Given the description of an element on the screen output the (x, y) to click on. 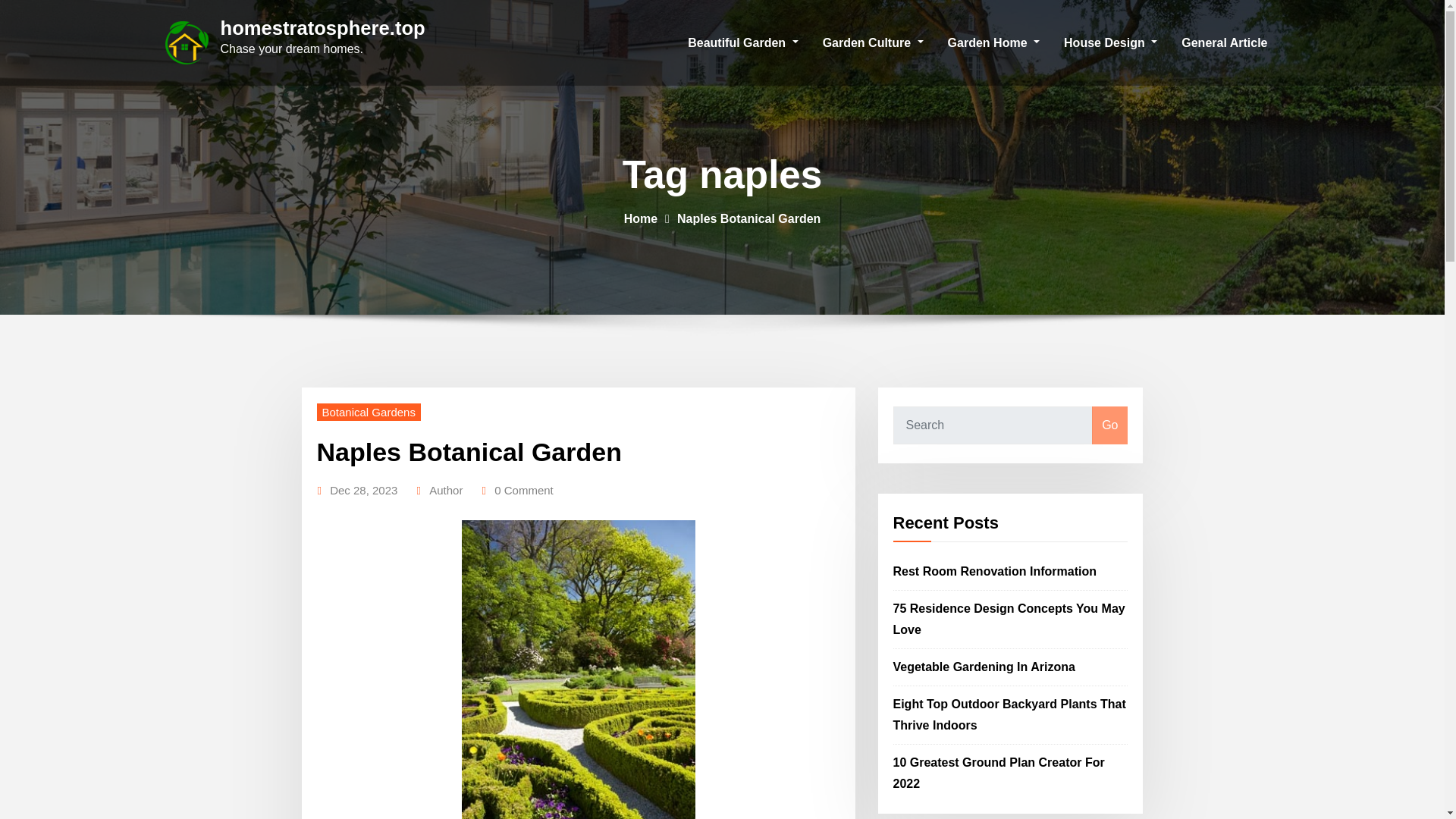
Naples Botanical Garden (749, 218)
Garden Home (993, 42)
homestratosphere.top (322, 27)
Beautiful Garden (742, 42)
Author (446, 490)
Garden Culture (873, 42)
General Article (1224, 42)
Home (641, 218)
Botanical Gardens (368, 411)
Naples Botanical Garden (469, 451)
